Given the description of an element on the screen output the (x, y) to click on. 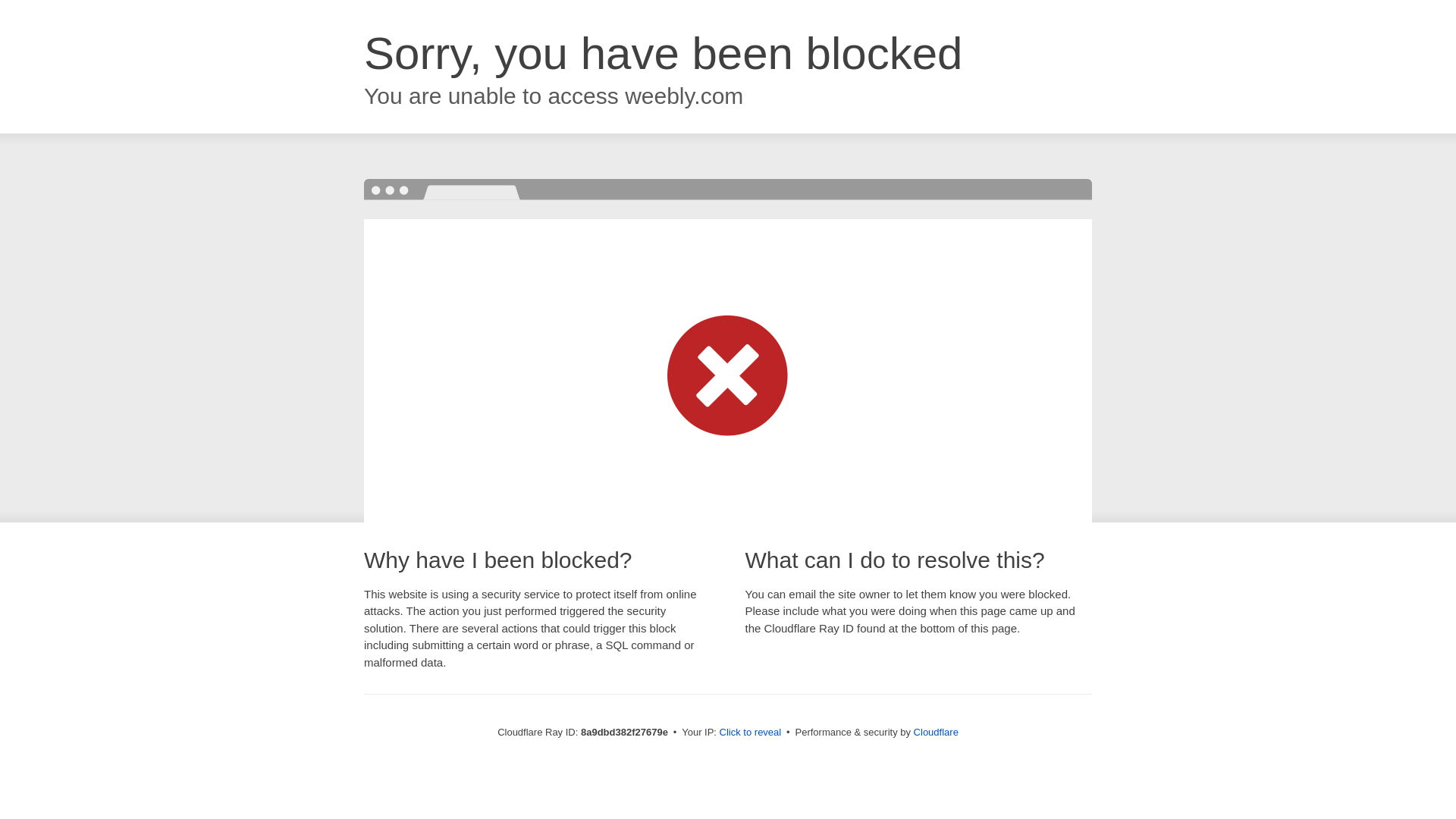
Cloudflare (936, 731)
Click to reveal (750, 732)
